Given the description of an element on the screen output the (x, y) to click on. 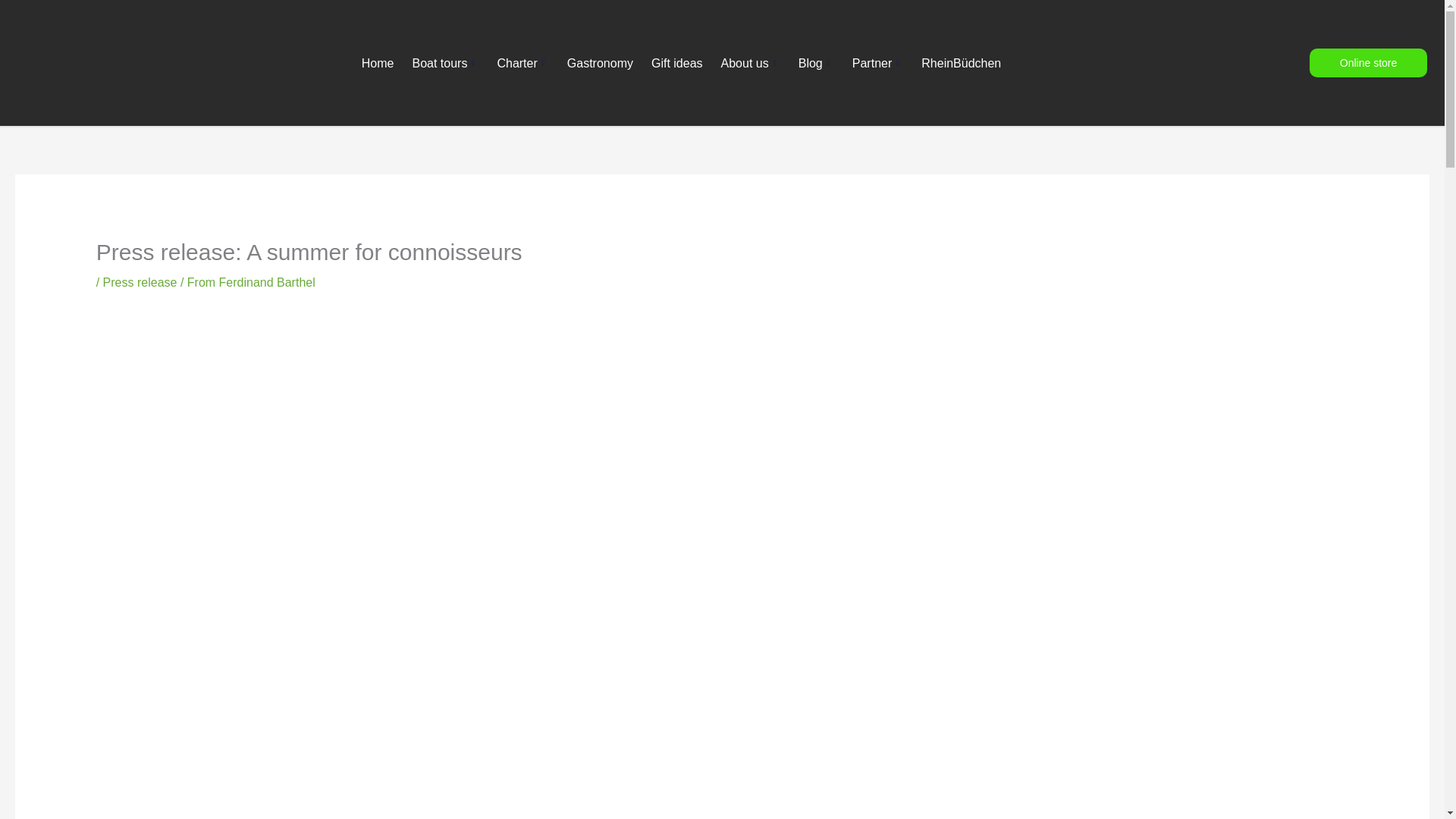
View all posts by Ferdinand Barthel (267, 282)
Home (377, 62)
Boat tours (445, 62)
